Given the description of an element on the screen output the (x, y) to click on. 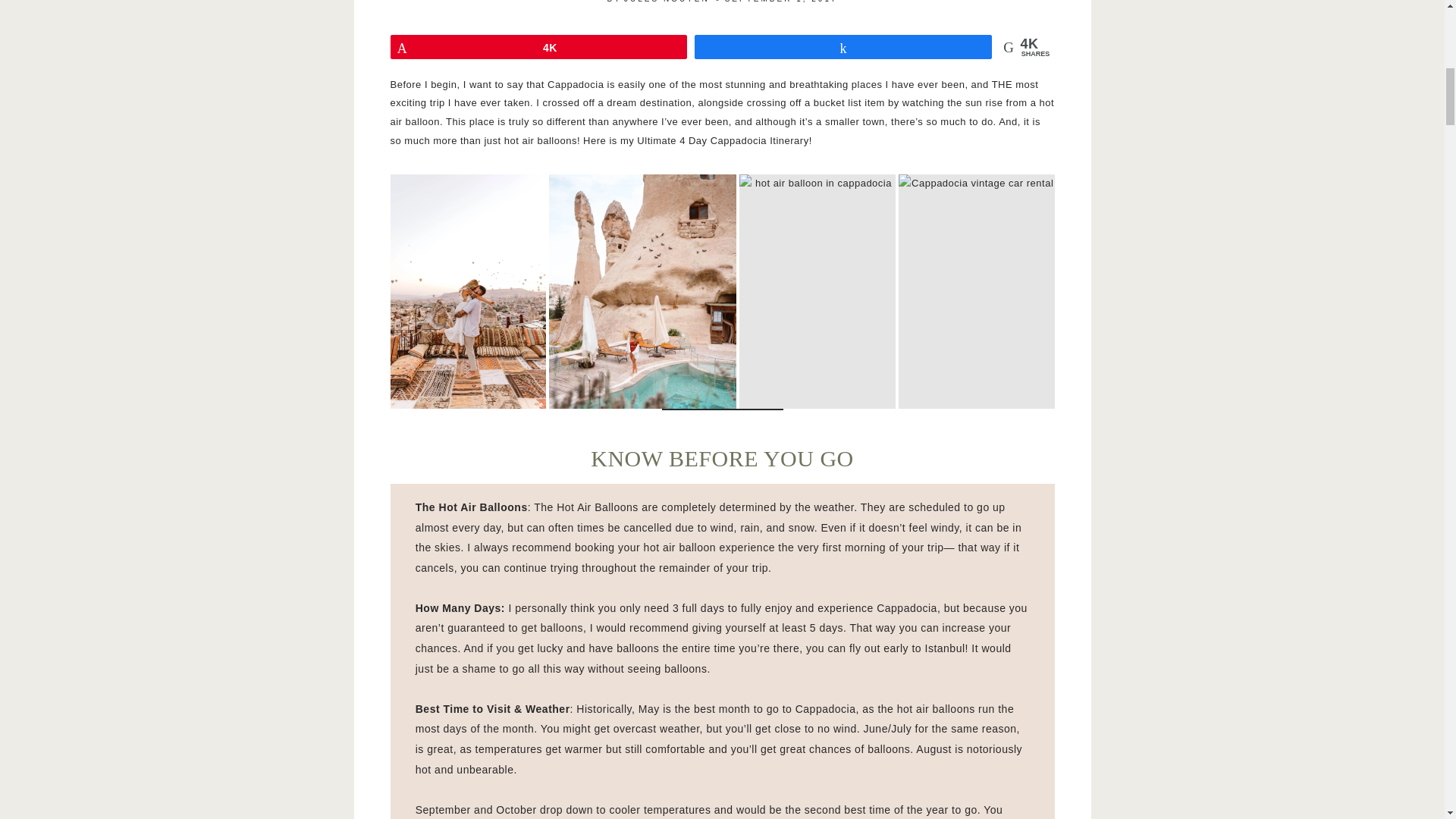
4K (539, 47)
JULES NGUYEN (667, 1)
